Given the description of an element on the screen output the (x, y) to click on. 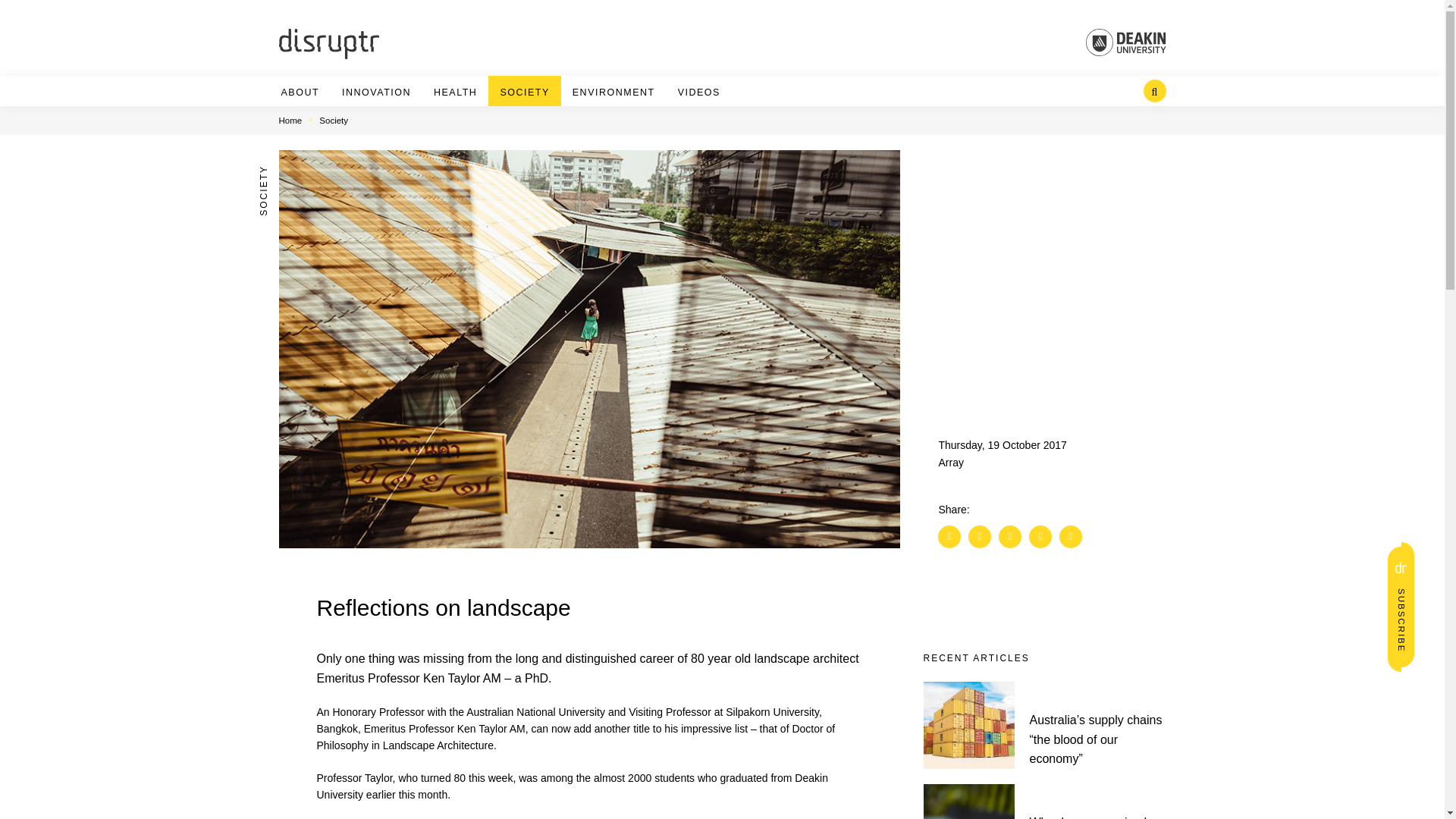
Home (290, 120)
SOCIETY (524, 92)
ABOUT (300, 92)
ENVIRONMENT (614, 92)
Society (332, 120)
VIDEOS (698, 92)
INNOVATION (376, 92)
HEALTH (454, 92)
